Given the description of an element on the screen output the (x, y) to click on. 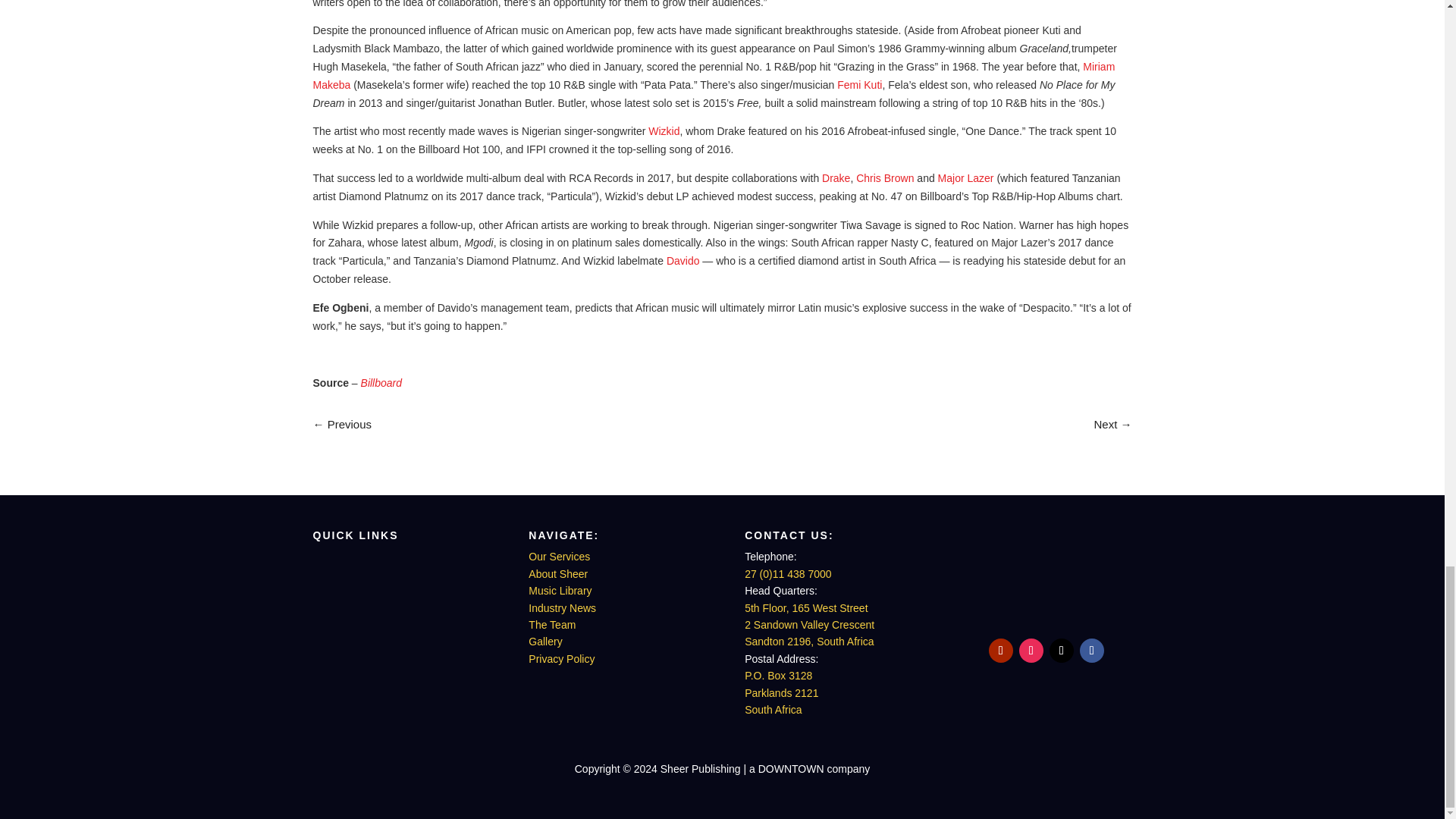
Follow on Facebook (1091, 650)
Drake (836, 177)
Follow on X (1061, 650)
Follow on Youtube (1000, 650)
Femi Kuti (859, 84)
Chris Brown (885, 177)
Davido (683, 260)
Major Lazer (965, 177)
Miriam Makeba (714, 75)
a DOWNTOWN company (1046, 608)
